Given the description of an element on the screen output the (x, y) to click on. 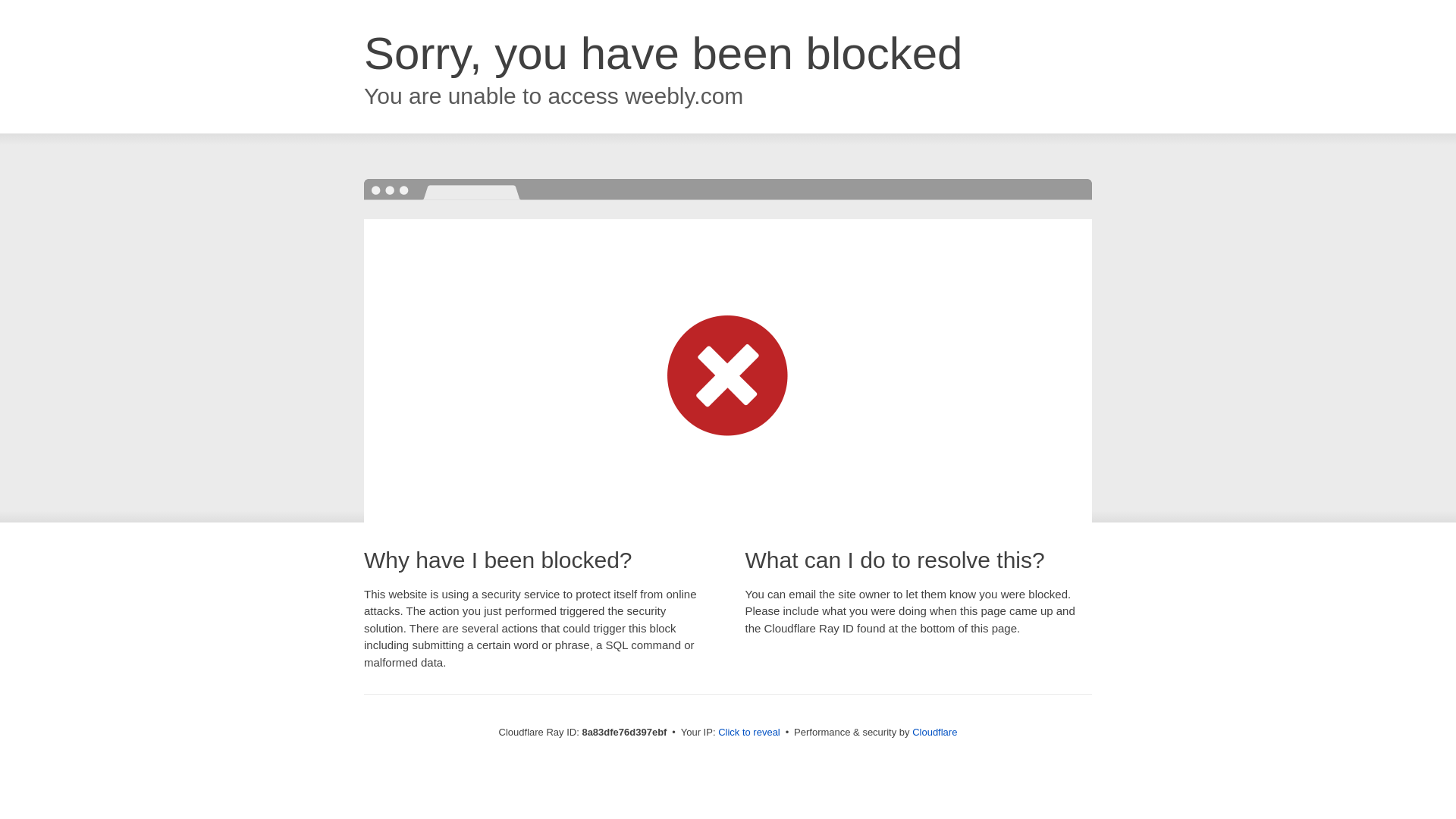
Click to reveal (748, 732)
Cloudflare (934, 731)
